Given the description of an element on the screen output the (x, y) to click on. 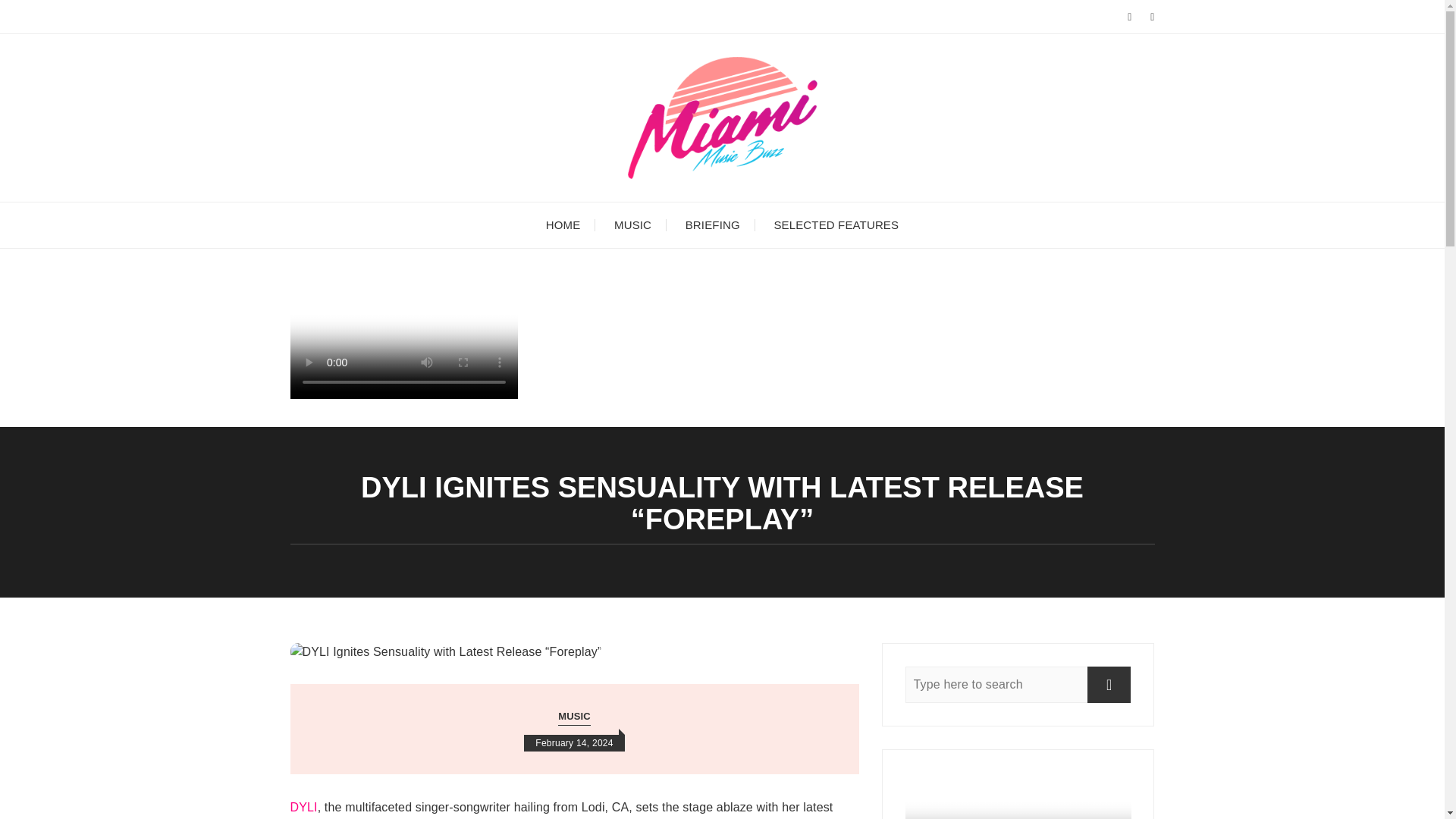
MUSIC (574, 717)
February 14, 2024 (574, 742)
Follow on Instagram (402, 394)
MUSIC (632, 225)
HOME (563, 225)
BRIEFING (712, 225)
SELECTED FEATURES (836, 225)
DYLI (303, 807)
